Given the description of an element on the screen output the (x, y) to click on. 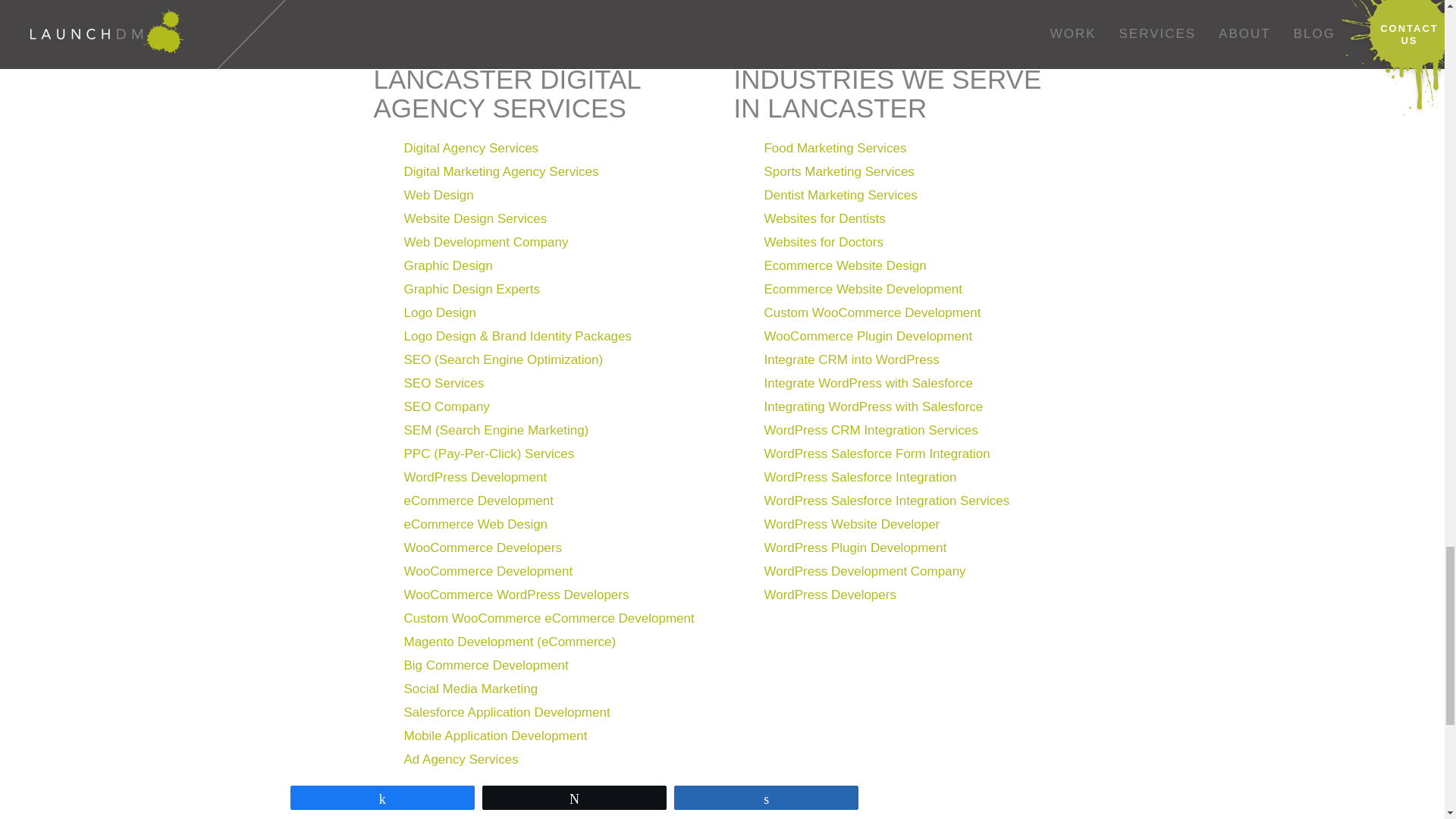
SEO Services (443, 382)
eCommerce Web Design (475, 523)
Digital Agency Services (470, 147)
Web Development Company (485, 242)
eCommerce Development (478, 500)
SEO Company (446, 406)
WooCommerce Development (487, 571)
Graphic Design (447, 265)
Digital Marketing Agency Services (500, 171)
WooCommerce Developers (481, 547)
WordPress Development (475, 477)
Graphic Design Experts (471, 288)
WooCommerce WordPress Developers (515, 594)
Logo Design (439, 312)
Website Design Services (475, 218)
